Given the description of an element on the screen output the (x, y) to click on. 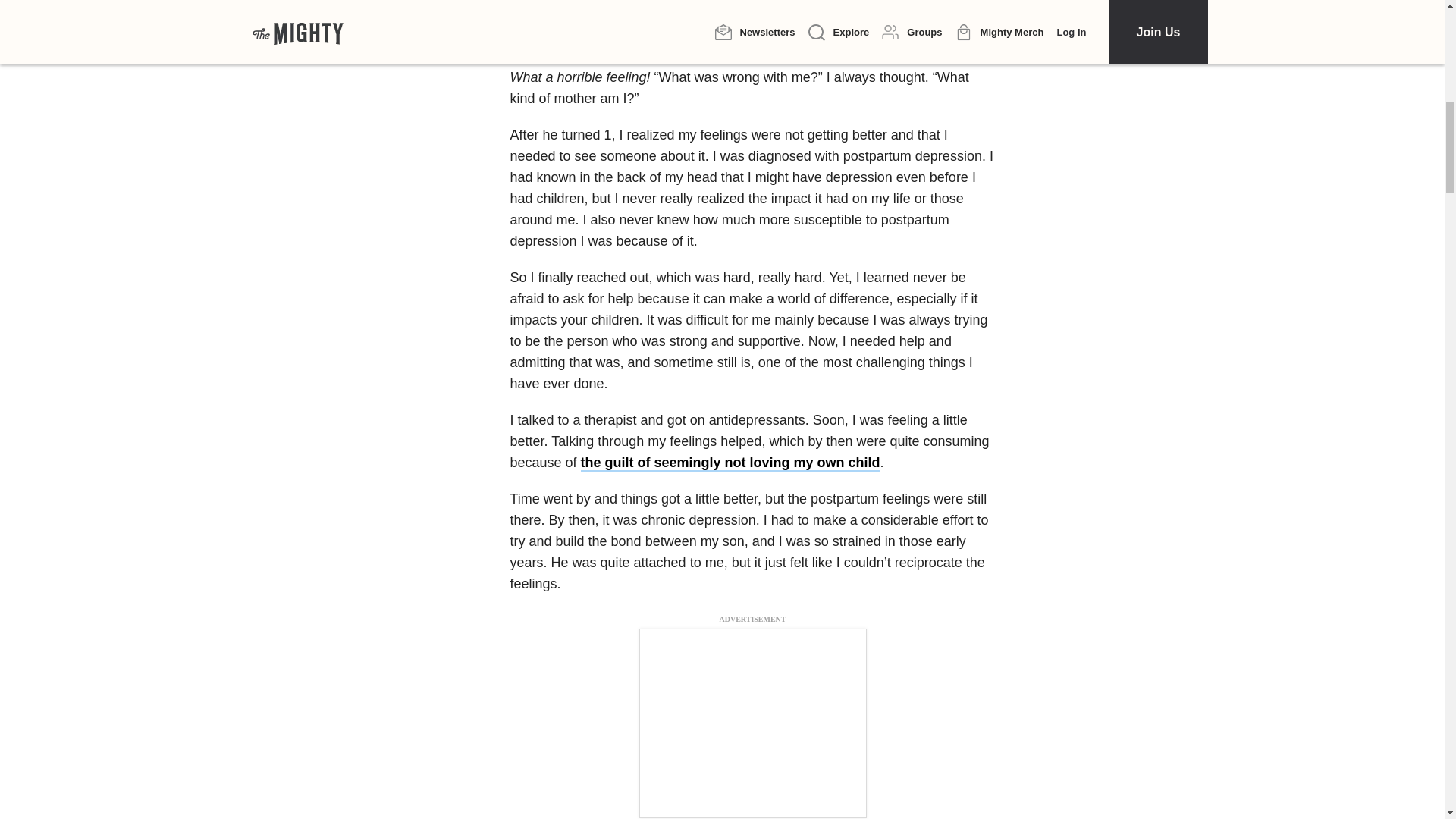
the guilt of seemingly not loving my own child (730, 463)
